Given the description of an element on the screen output the (x, y) to click on. 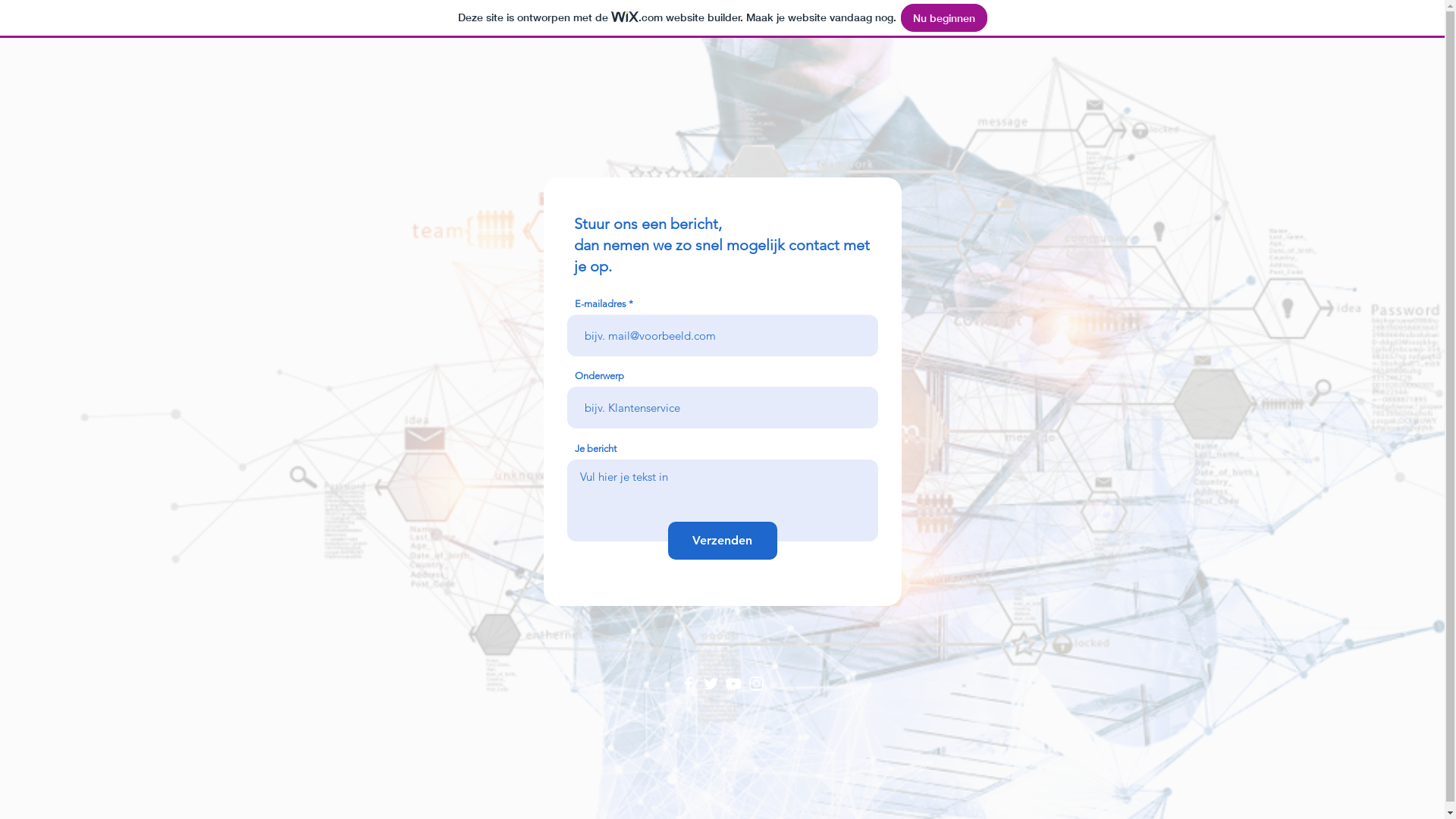
Verzenden Element type: text (721, 540)
